Given the description of an element on the screen output the (x, y) to click on. 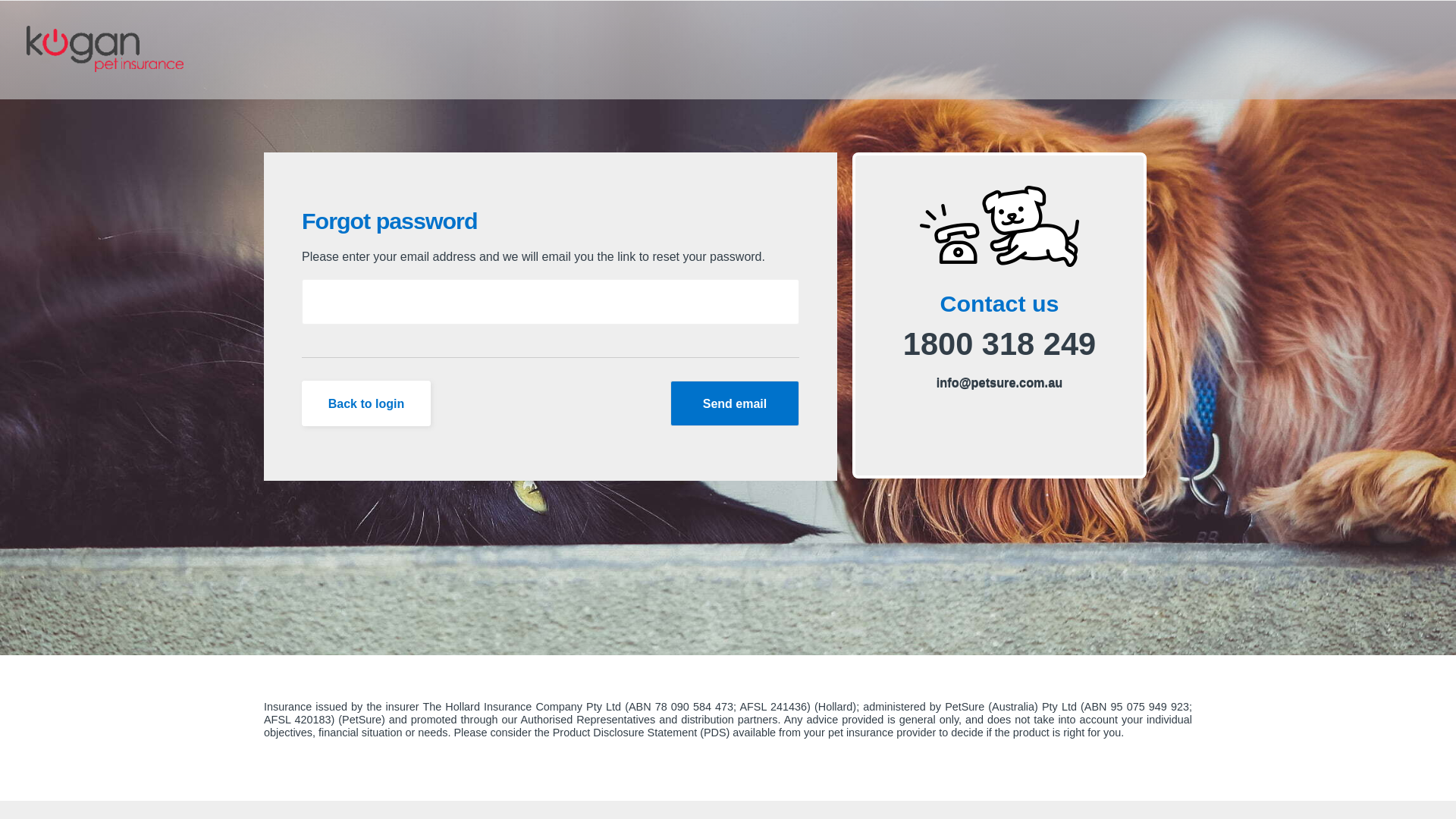
Send email Element type: text (734, 403)
Kogan pet insurance Sign In Element type: text (111, 57)
Phone us on
1800 318 249 Element type: text (999, 344)
Back to login Element type: text (365, 403)
Email us on
info@petsure.com.au Element type: text (999, 382)
